Given the description of an element on the screen output the (x, y) to click on. 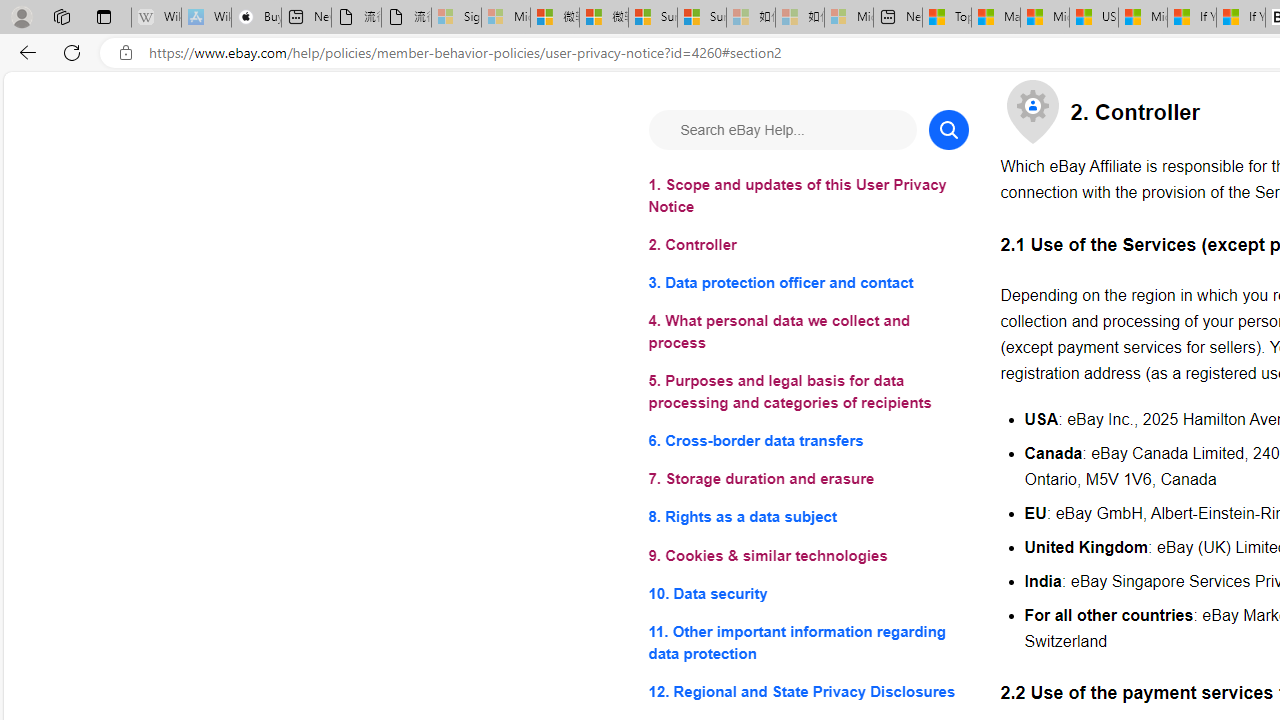
11. Other important information regarding data protection (807, 642)
4. What personal data we collect and process (807, 332)
7. Storage duration and erasure (807, 479)
2. Controller (807, 245)
3. Data protection officer and contact (807, 283)
10. Data security (807, 592)
4. What personal data we collect and process (807, 332)
11. Other important information regarding data protection (807, 642)
